Given the description of an element on the screen output the (x, y) to click on. 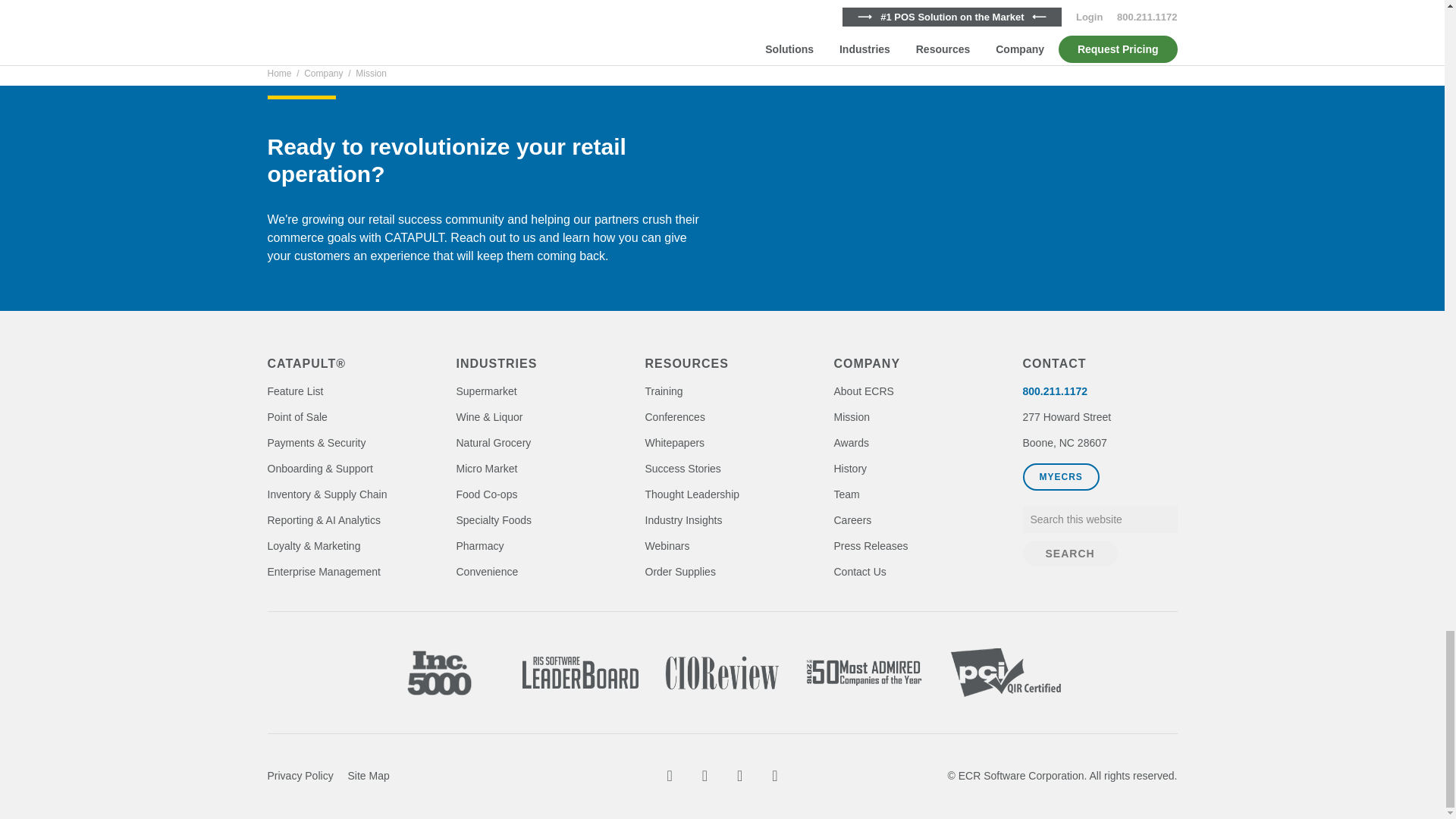
Search (1069, 553)
Search (1069, 553)
Login to myECRS (1060, 476)
